Given the description of an element on the screen output the (x, y) to click on. 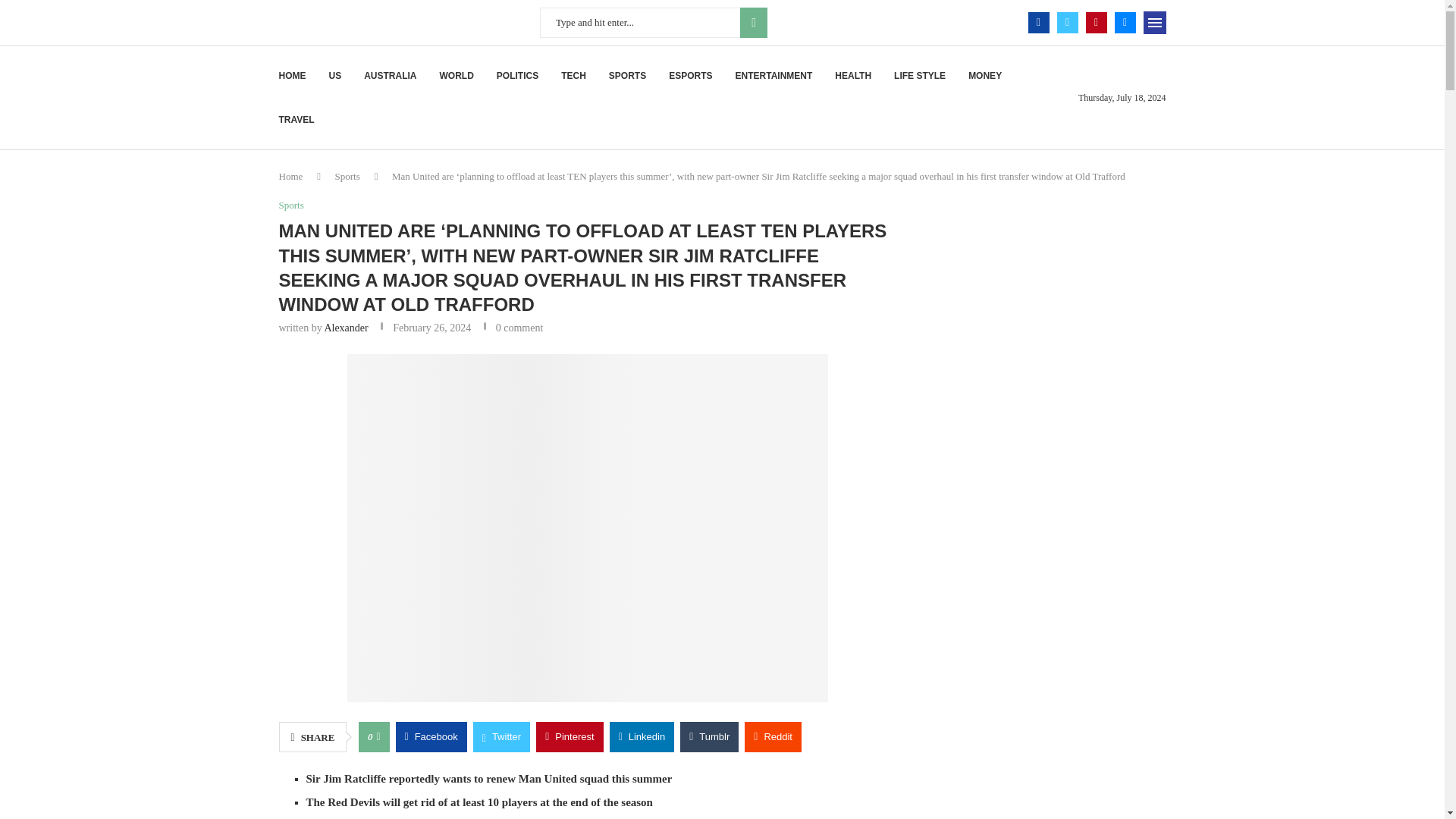
POLITICS (517, 75)
ESPORTS (689, 75)
LIFE STYLE (918, 75)
AUSTRALIA (390, 75)
SEARCH (753, 22)
ENTERTAINMENT (773, 75)
